Given the description of an element on the screen output the (x, y) to click on. 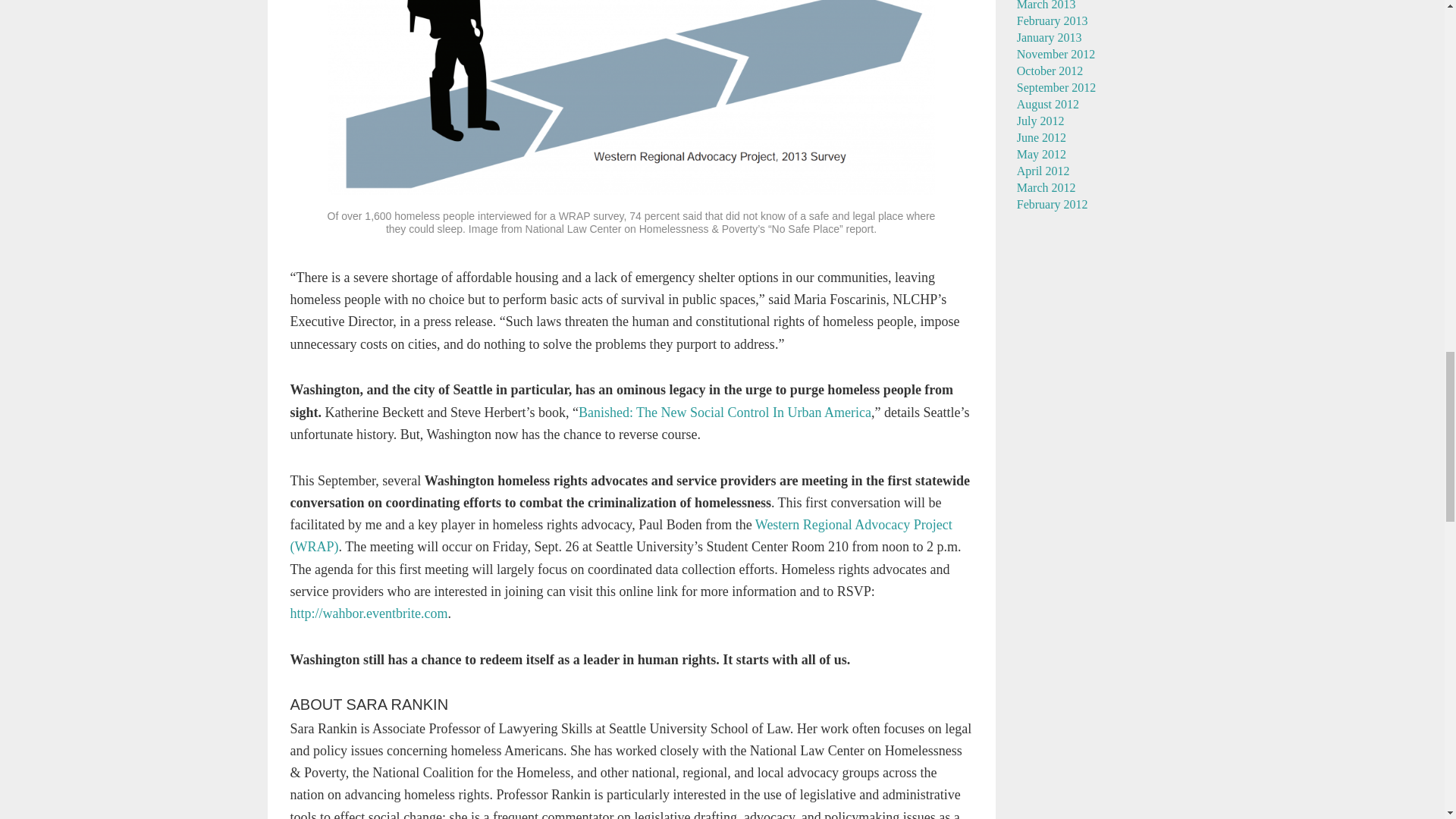
Banished: The New Social Control In Urban America (724, 412)
